Given the description of an element on the screen output the (x, y) to click on. 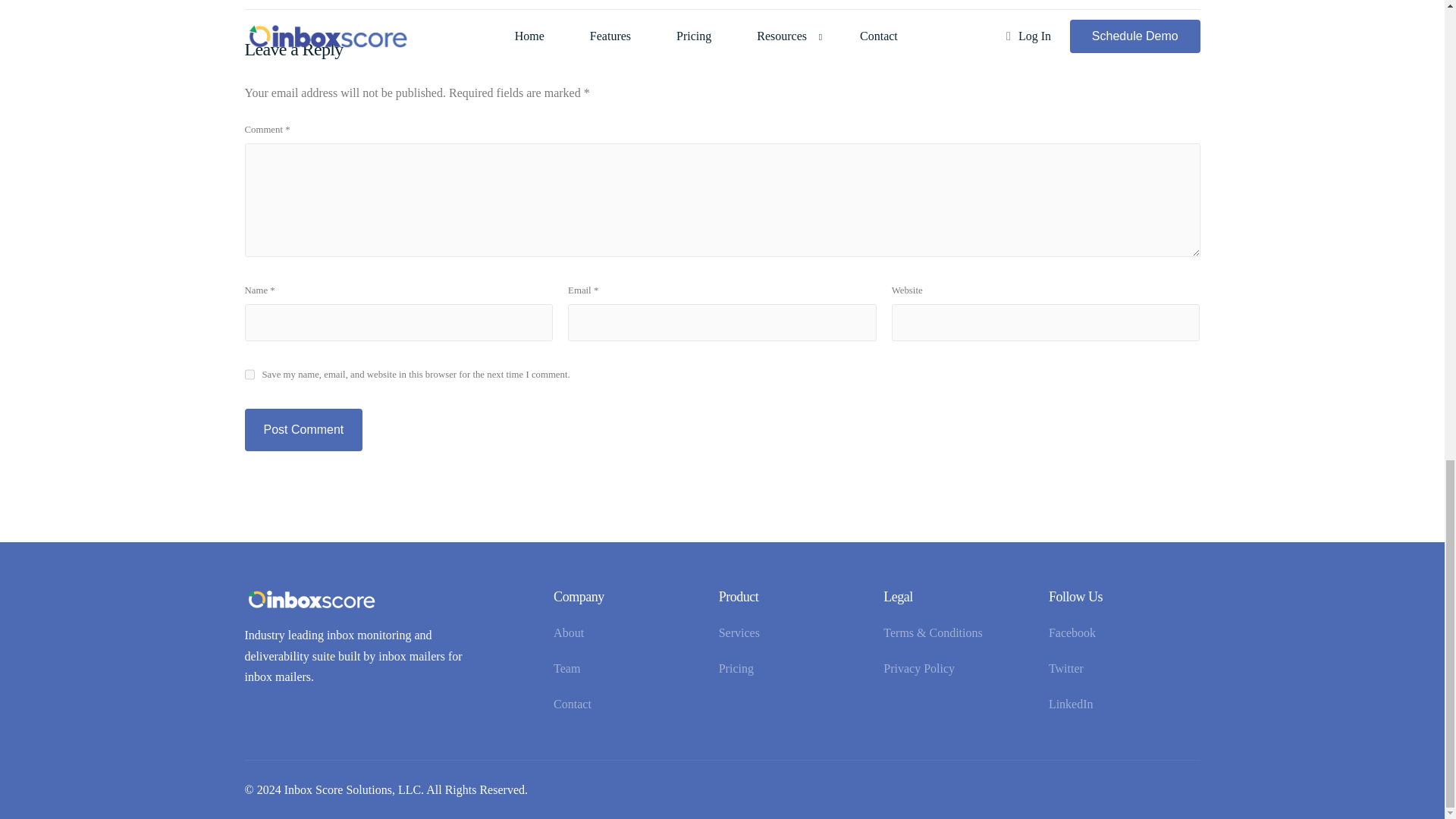
About (628, 632)
Privacy Policy (958, 668)
Pricing (794, 668)
LinkedIn (1123, 703)
Facebook (1123, 632)
Post Comment (303, 429)
Services (794, 632)
Team (628, 668)
Twitter (1123, 668)
Post Comment (303, 429)
